Given the description of an element on the screen output the (x, y) to click on. 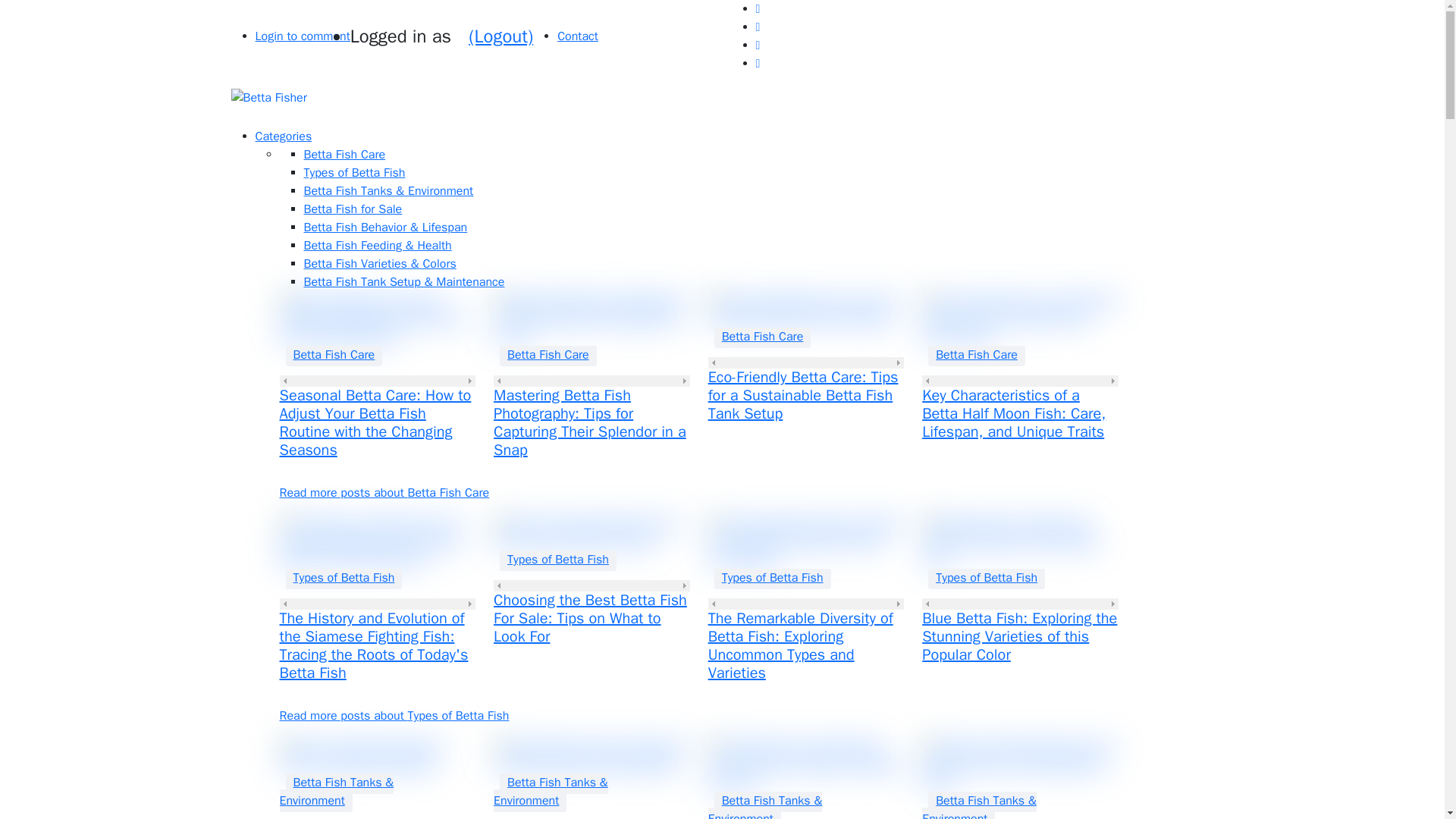
Betta Fish for Sale (351, 209)
Types of Betta Fish (772, 577)
Categories (282, 136)
Types of Betta Fish (557, 558)
Betta Fish Care (547, 354)
Login to comment (301, 36)
Types of Betta Fish (343, 577)
